Given the description of an element on the screen output the (x, y) to click on. 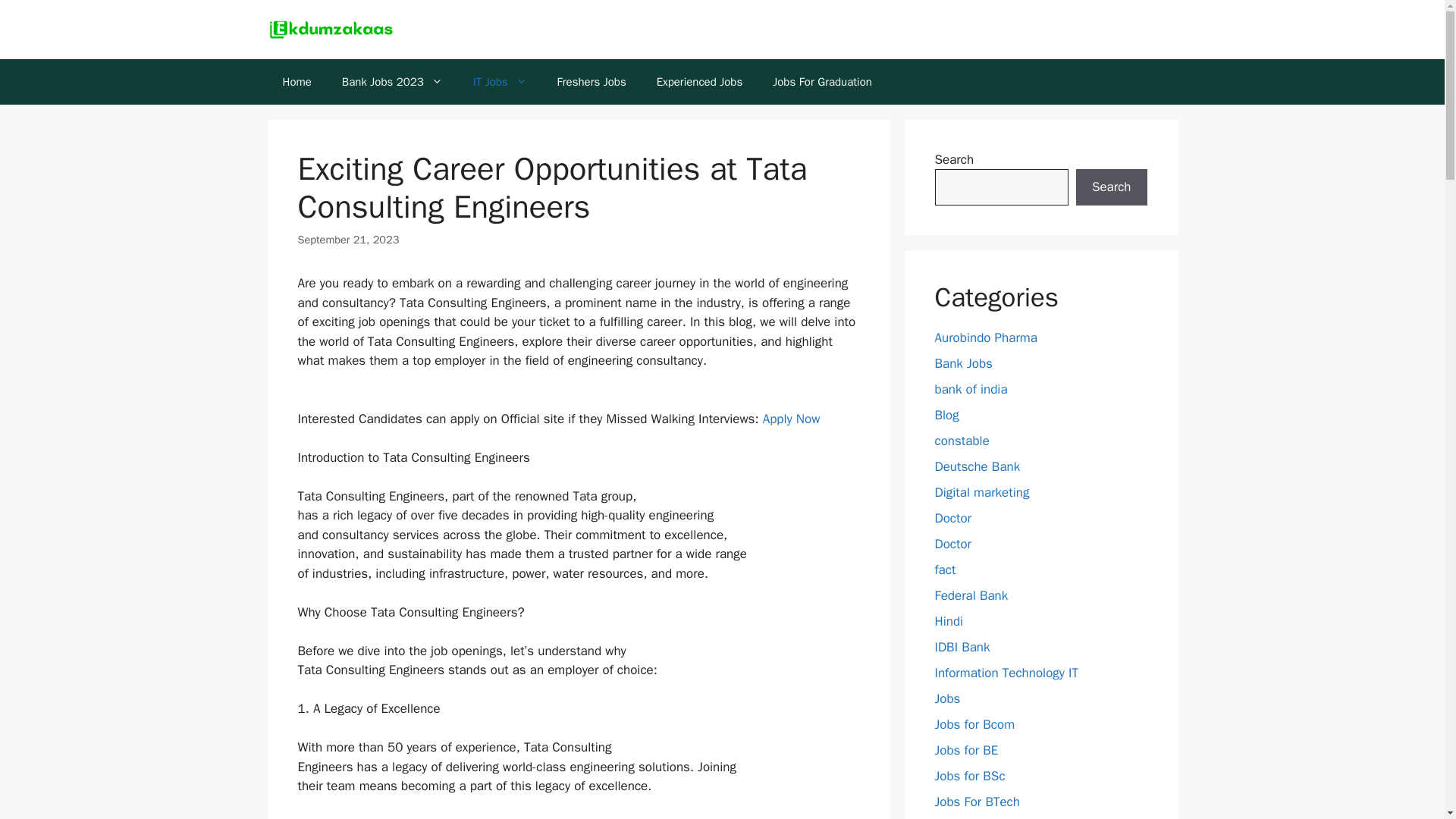
Experienced Jobs (700, 81)
Jobs For Graduation (821, 81)
IT Jobs (499, 81)
Home (296, 81)
Freshers Jobs (591, 81)
Bank Jobs 2023 (392, 81)
Apply Now (791, 418)
